Given the description of an element on the screen output the (x, y) to click on. 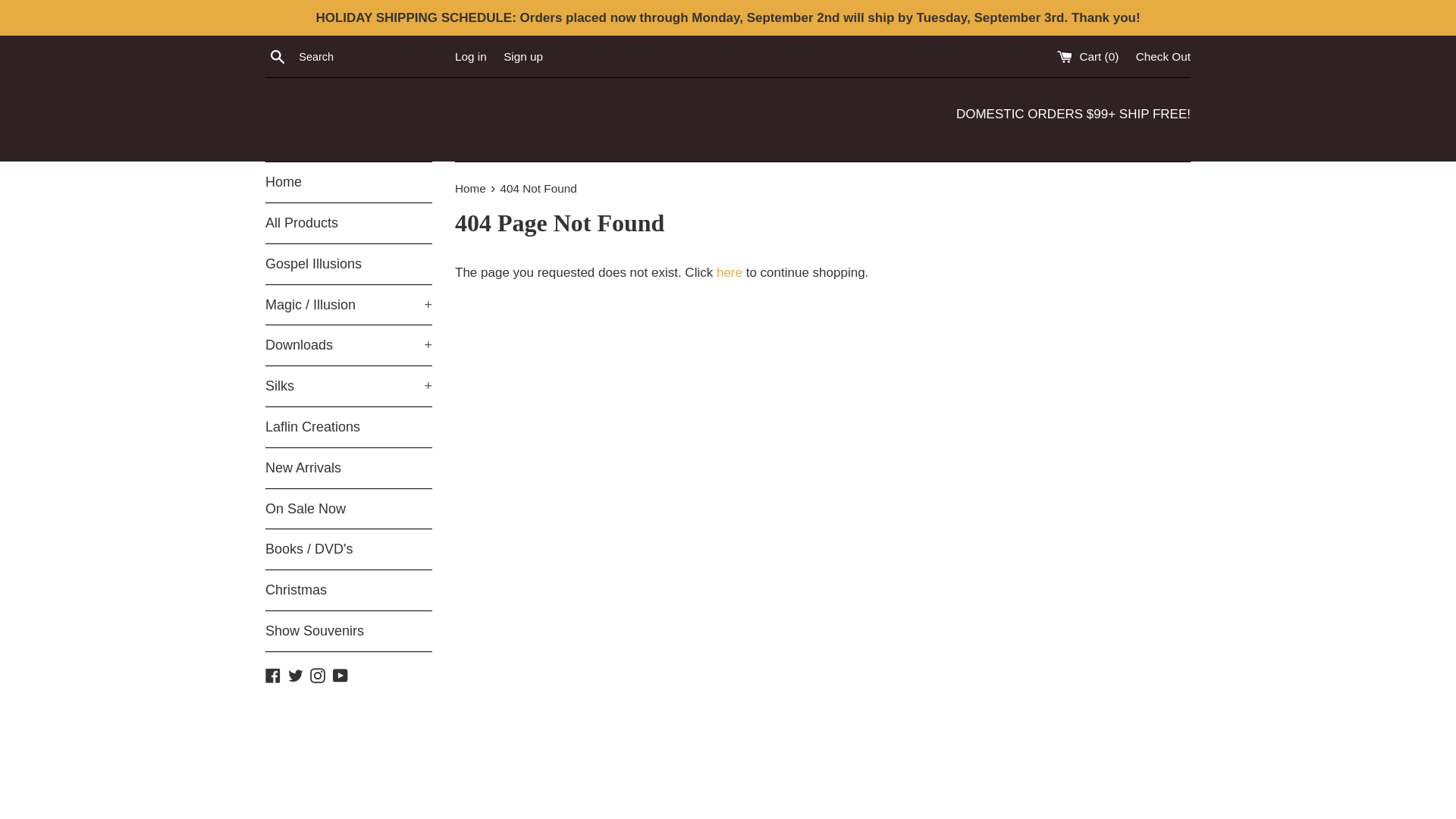
Instagram (317, 675)
Check Out (1163, 56)
Twitter (295, 675)
Show Souvenirs (348, 630)
Back to the frontpage (471, 187)
Search (276, 56)
Sign up (523, 56)
Christmas (348, 590)
LaflinMagicStore on Facebook (272, 675)
LaflinMagicStore on Twitter (295, 675)
